Given the description of an element on the screen output the (x, y) to click on. 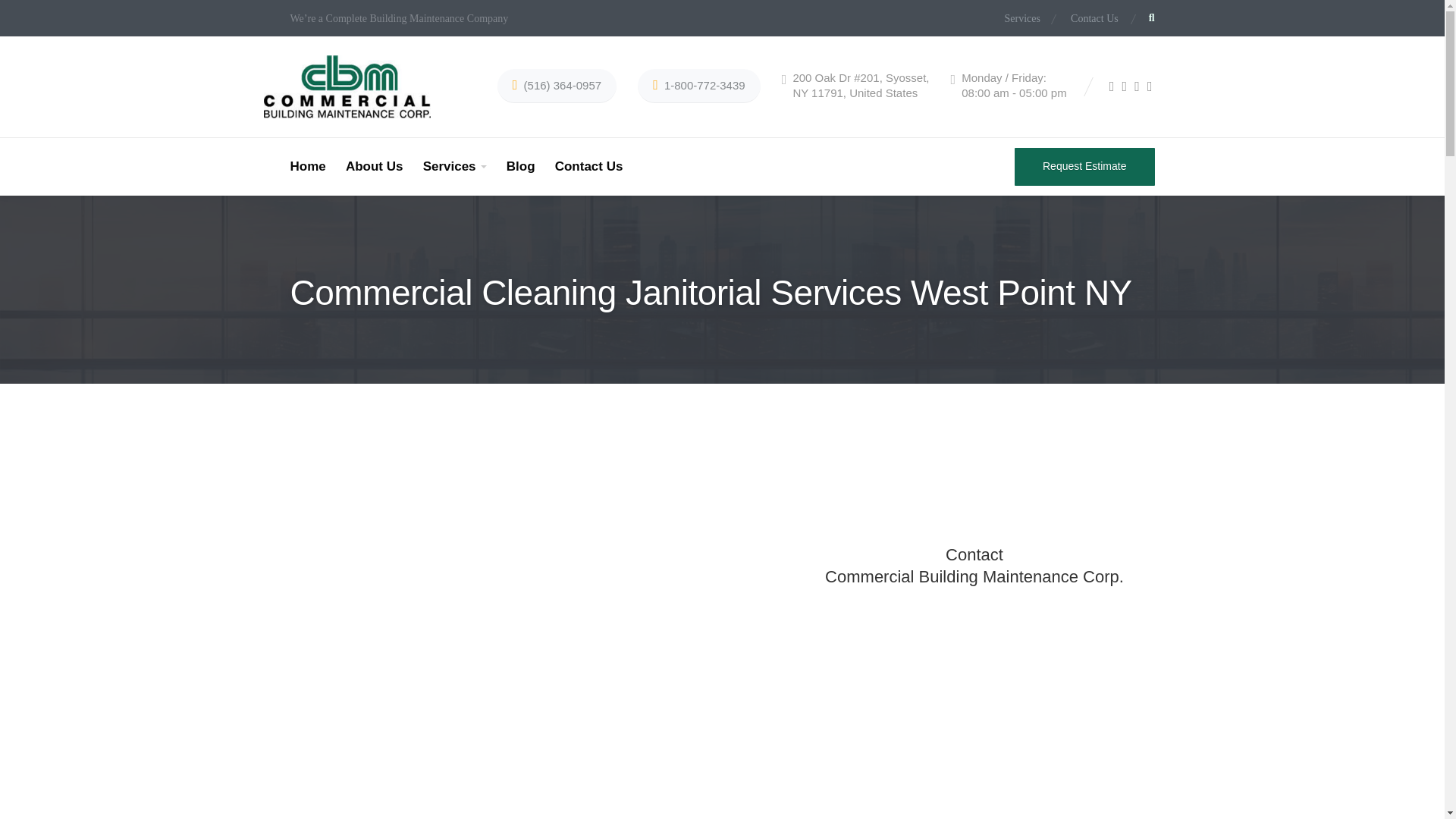
Contact Us (1087, 18)
Contact Us (589, 166)
Request Estimate (1084, 166)
Contact Page Form (973, 652)
Search (1010, 409)
1-800-772-3439 (698, 85)
Services (1028, 18)
About Us (374, 166)
CBM Commercial Building Maintenance (346, 85)
CBM LP01 (542, 605)
Services (454, 166)
